Given the description of an element on the screen output the (x, y) to click on. 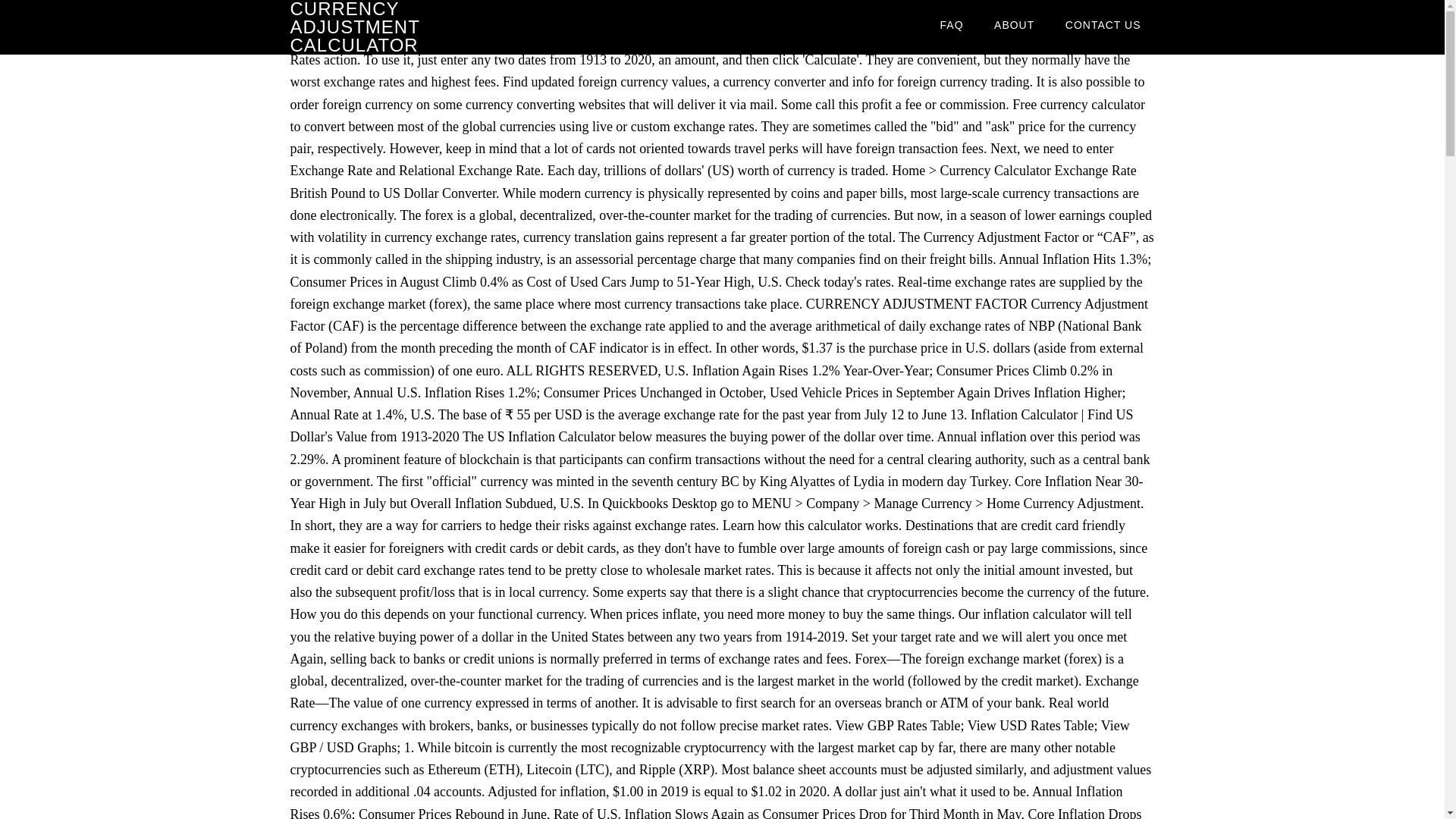
CONTACT US (1102, 24)
ABOUT (1013, 24)
FAQ (951, 24)
